Given the description of an element on the screen output the (x, y) to click on. 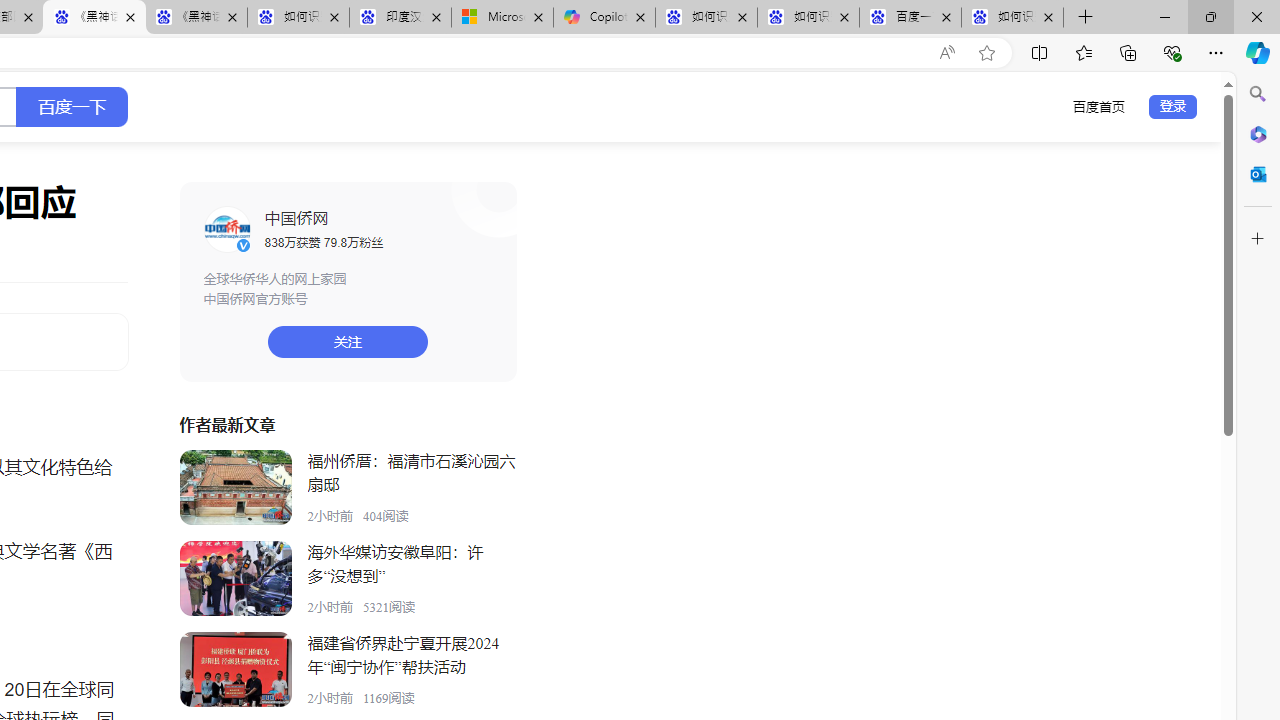
Copilot (604, 17)
